Given the description of an element on the screen output the (x, y) to click on. 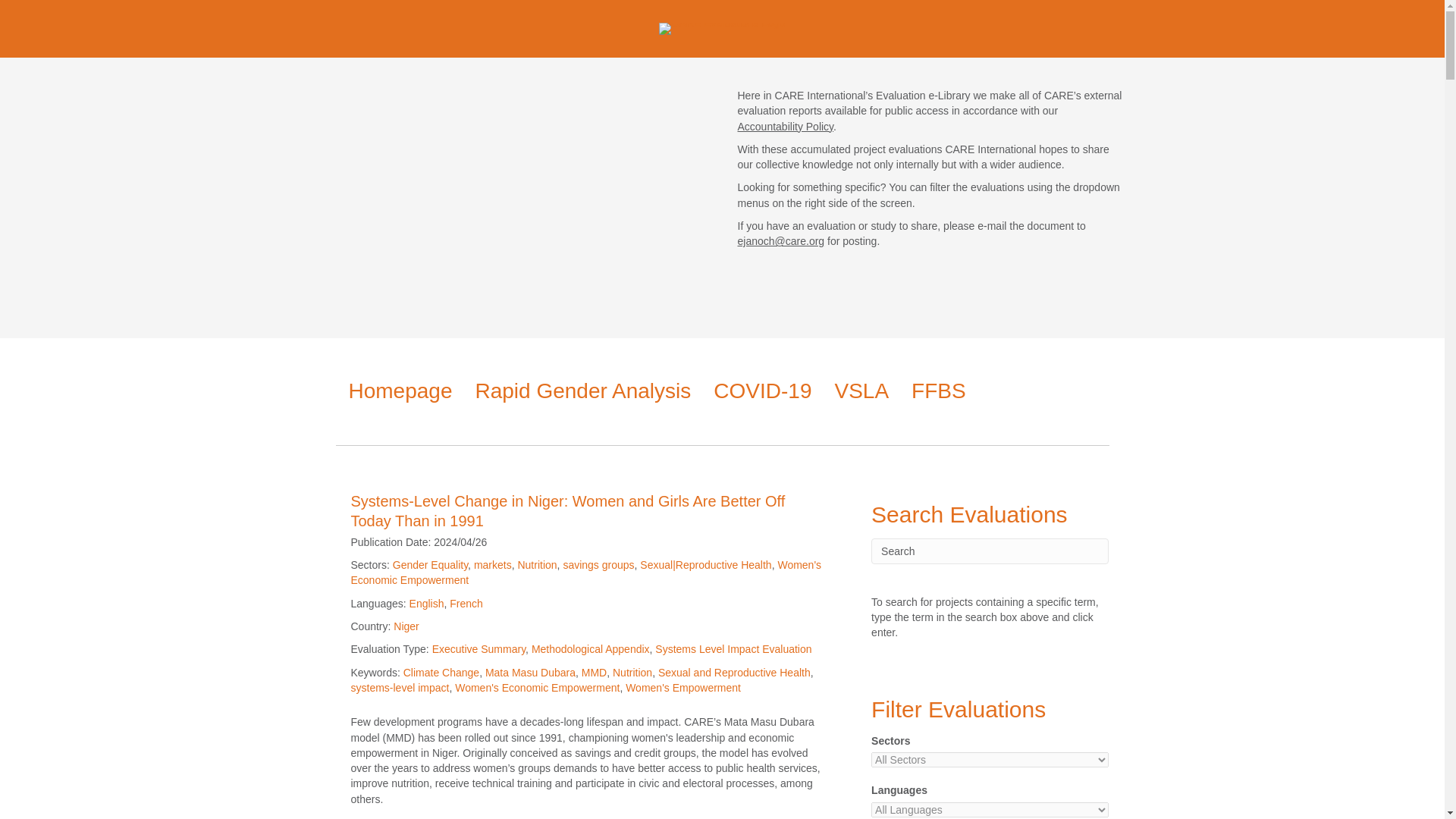
markets (493, 564)
Gender Equality (430, 564)
Women's Economic Empowerment (537, 687)
MMD (593, 672)
Search (989, 551)
FFBS (937, 391)
English (426, 603)
Accountability Policy (784, 126)
Women's Empowerment (683, 687)
VSLA (860, 391)
